Given the description of an element on the screen output the (x, y) to click on. 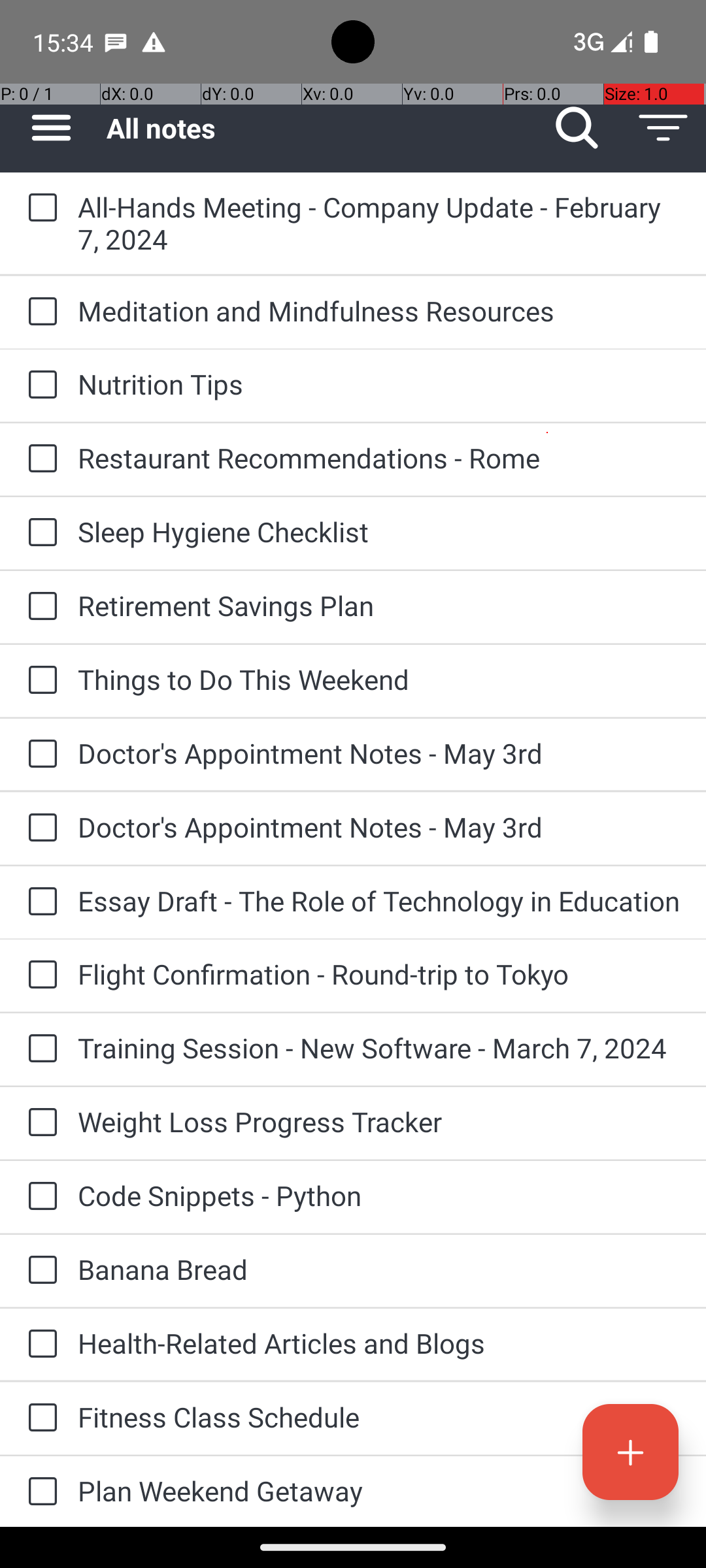
Sidebar Element type: android.widget.Button (44, 127)
All notes Element type: android.widget.TextView (320, 127)
Sort notes by Element type: android.widget.Button (663, 127)
Add new, collapsed Element type: android.widget.Button (630, 1452)
 Element type: android.widget.TextView (51, 127)
 Element type: android.widget.TextView (576, 127)
 Element type: android.widget.TextView (663, 127)
 Element type: android.widget.TextView (630, 1451)
to-do: All-Hands Meeting - Company Update - February 7, 2024 Element type: android.widget.CheckBox (38, 208)
All-Hands Meeting - Company Update - February 7, 2024 Element type: android.widget.TextView (378, 222)
to-do: Meditation and Mindfulness Resources Element type: android.widget.CheckBox (38, 312)
Meditation and Mindfulness Resources Element type: android.widget.TextView (378, 310)
to-do: Nutrition Tips Element type: android.widget.CheckBox (38, 385)
Nutrition Tips Element type: android.widget.TextView (378, 383)
to-do: Restaurant Recommendations - Rome Element type: android.widget.CheckBox (38, 459)
Restaurant Recommendations - Rome Element type: android.widget.TextView (378, 457)
to-do: Sleep Hygiene Checklist Element type: android.widget.CheckBox (38, 533)
Sleep Hygiene Checklist Element type: android.widget.TextView (378, 531)
to-do: Retirement Savings Plan Element type: android.widget.CheckBox (38, 606)
Retirement Savings Plan Element type: android.widget.TextView (378, 604)
to-do: Things to Do This Weekend Element type: android.widget.CheckBox (38, 680)
Things to Do This Weekend Element type: android.widget.TextView (378, 678)
to-do: Doctor's Appointment Notes - May 3rd Element type: android.widget.CheckBox (38, 754)
Doctor's Appointment Notes - May 3rd Element type: android.widget.TextView (378, 752)
to-do: Essay Draft - The Role of Technology in Education Element type: android.widget.CheckBox (38, 902)
Essay Draft - The Role of Technology in Education Element type: android.widget.TextView (378, 900)
to-do: Flight Confirmation - Round-trip to Tokyo Element type: android.widget.CheckBox (38, 975)
Flight Confirmation - Round-trip to Tokyo Element type: android.widget.TextView (378, 973)
to-do: Training Session - New Software - March 7, 2024 Element type: android.widget.CheckBox (38, 1049)
Training Session - New Software - March 7, 2024 Element type: android.widget.TextView (378, 1047)
to-do: Weight Loss Progress Tracker Element type: android.widget.CheckBox (38, 1123)
Weight Loss Progress Tracker Element type: android.widget.TextView (378, 1121)
to-do: Code Snippets - Python Element type: android.widget.CheckBox (38, 1196)
Code Snippets - Python Element type: android.widget.TextView (378, 1194)
to-do: Banana Bread Element type: android.widget.CheckBox (38, 1270)
Banana Bread Element type: android.widget.TextView (378, 1268)
to-do: Health-Related Articles and Blogs Element type: android.widget.CheckBox (38, 1344)
Health-Related Articles and Blogs Element type: android.widget.TextView (378, 1342)
to-do: Fitness Class Schedule Element type: android.widget.CheckBox (38, 1418)
Fitness Class Schedule Element type: android.widget.TextView (378, 1416)
to-do: Plan Weekend Getaway Element type: android.widget.CheckBox (38, 1491)
Plan Weekend Getaway Element type: android.widget.TextView (378, 1490)
